Given the description of an element on the screen output the (x, y) to click on. 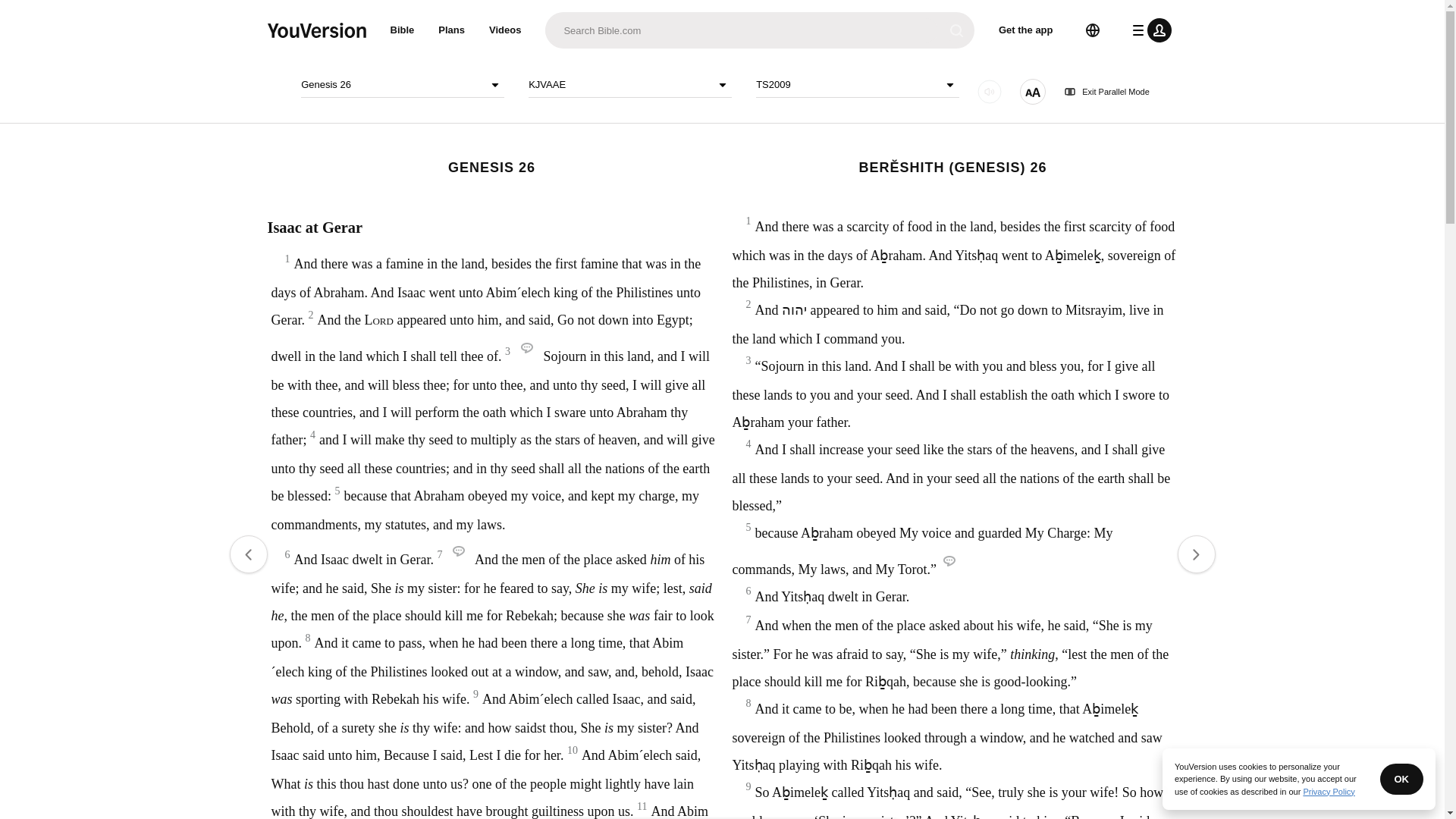
Get the app (1026, 29)
KJVAAE (630, 84)
Videos (504, 29)
Plans (451, 29)
Bible (401, 29)
TS2009 (857, 84)
Exit Parallel Mode (1107, 91)
Genesis 26 (402, 84)
